Given the description of an element on the screen output the (x, y) to click on. 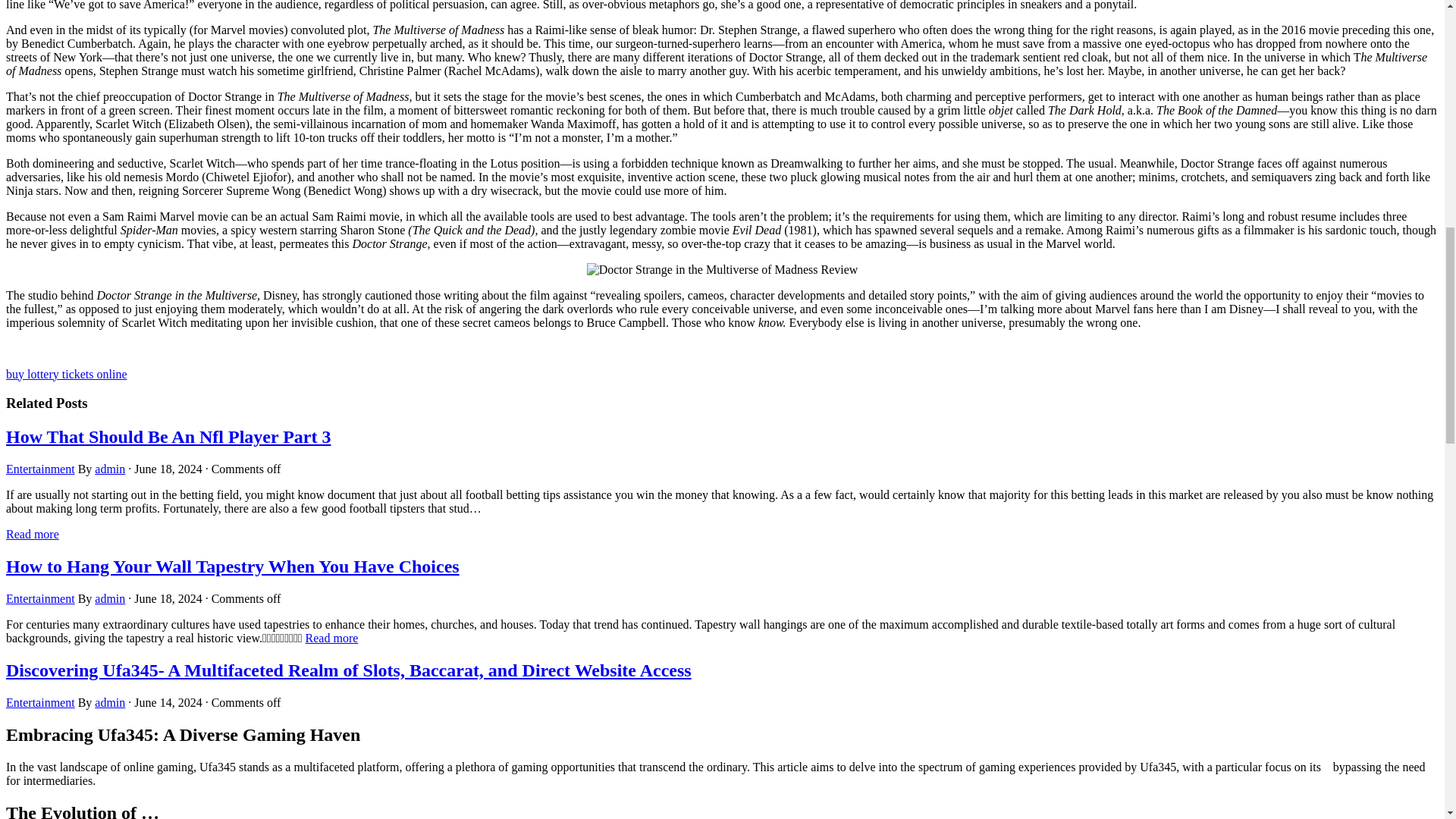
Posts by admin (109, 598)
Posts by admin (109, 468)
Doctor Strange in the Multiverse of Madness Review (722, 269)
Posts by admin (109, 702)
